Given the description of an element on the screen output the (x, y) to click on. 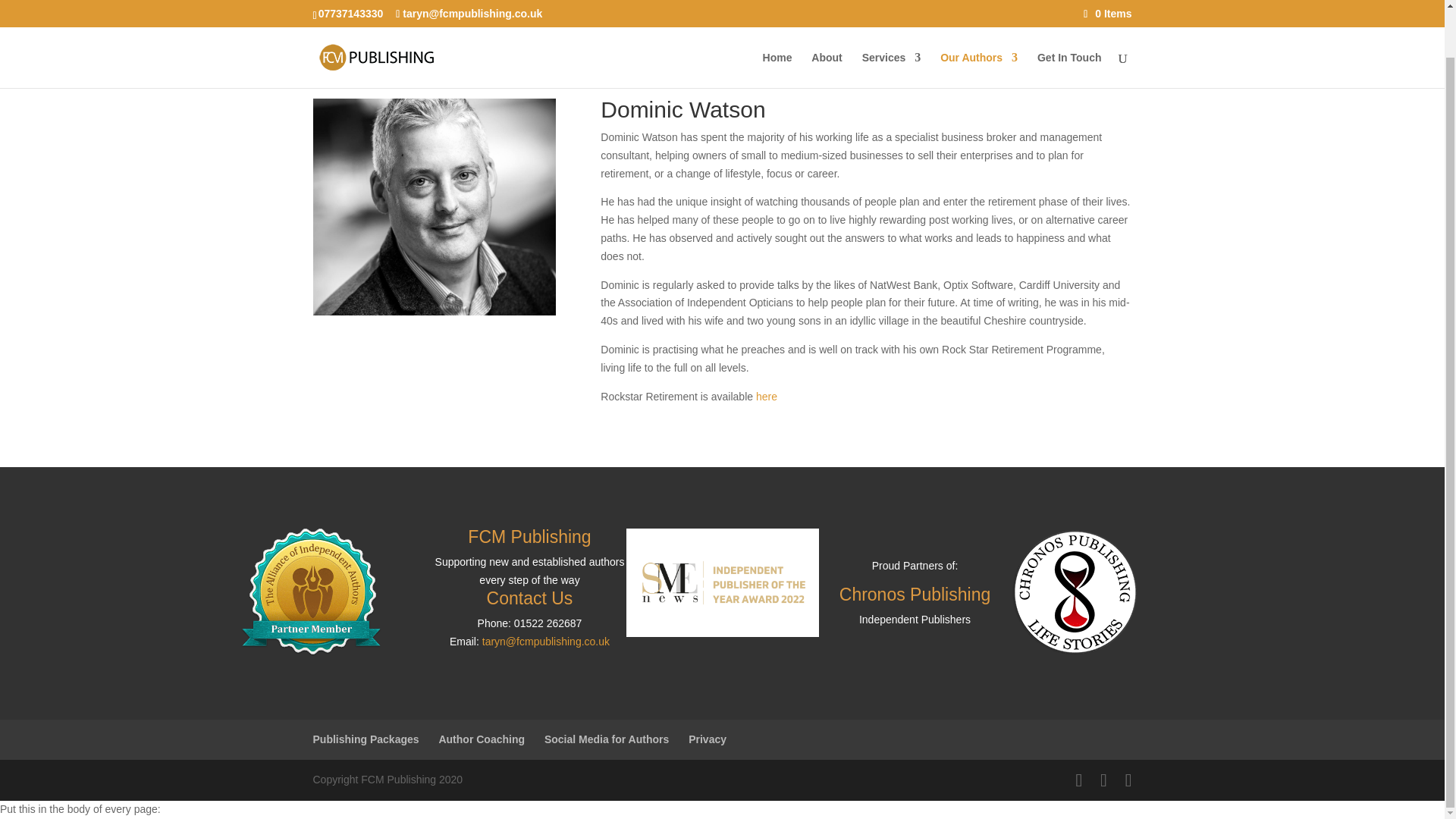
Services (891, 18)
Our Authors (978, 18)
